Given the description of an element on the screen output the (x, y) to click on. 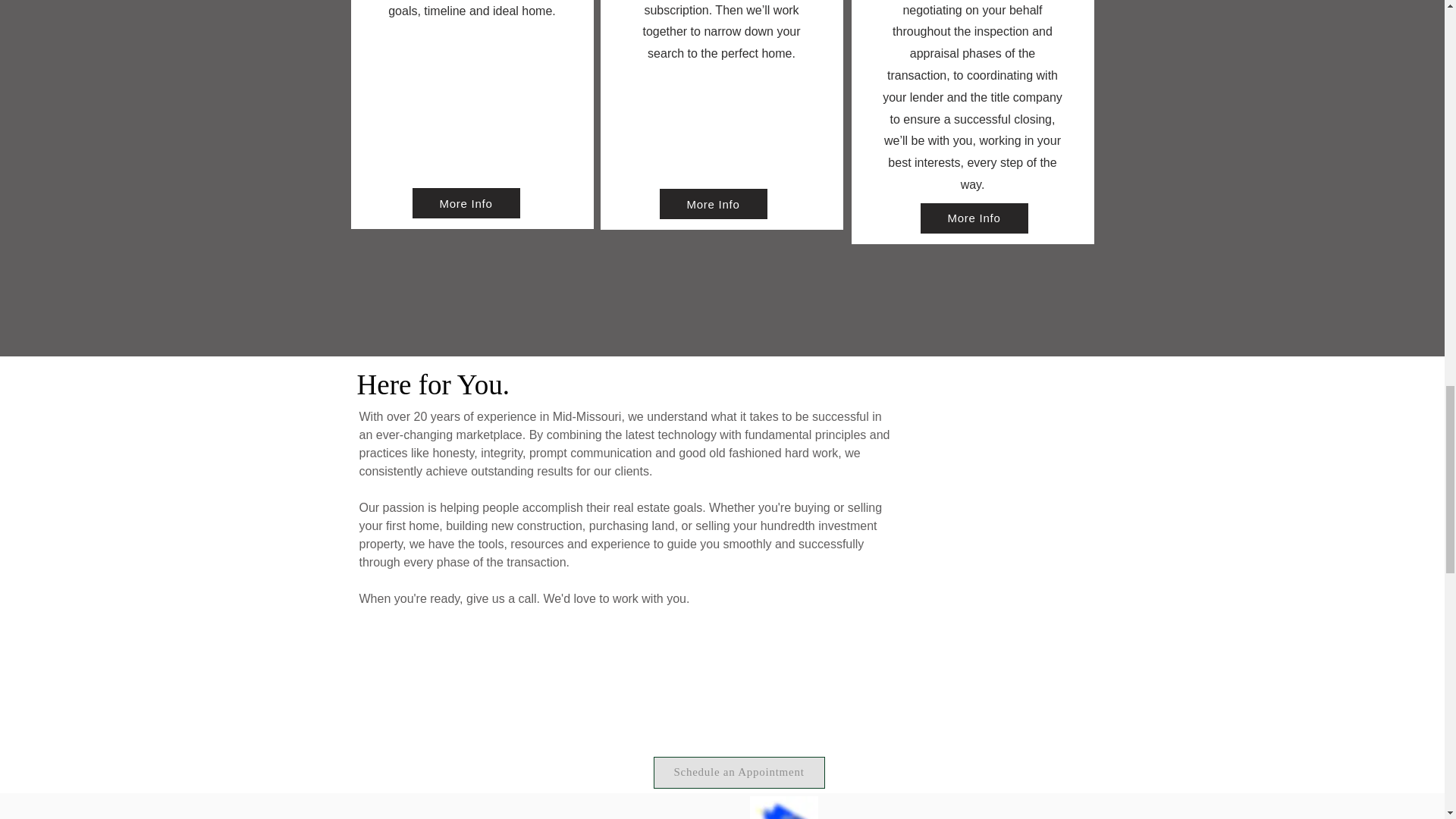
More Info (713, 204)
More Info (465, 203)
Schedule an Appointment (739, 772)
More Info (973, 218)
